Given the description of an element on the screen output the (x, y) to click on. 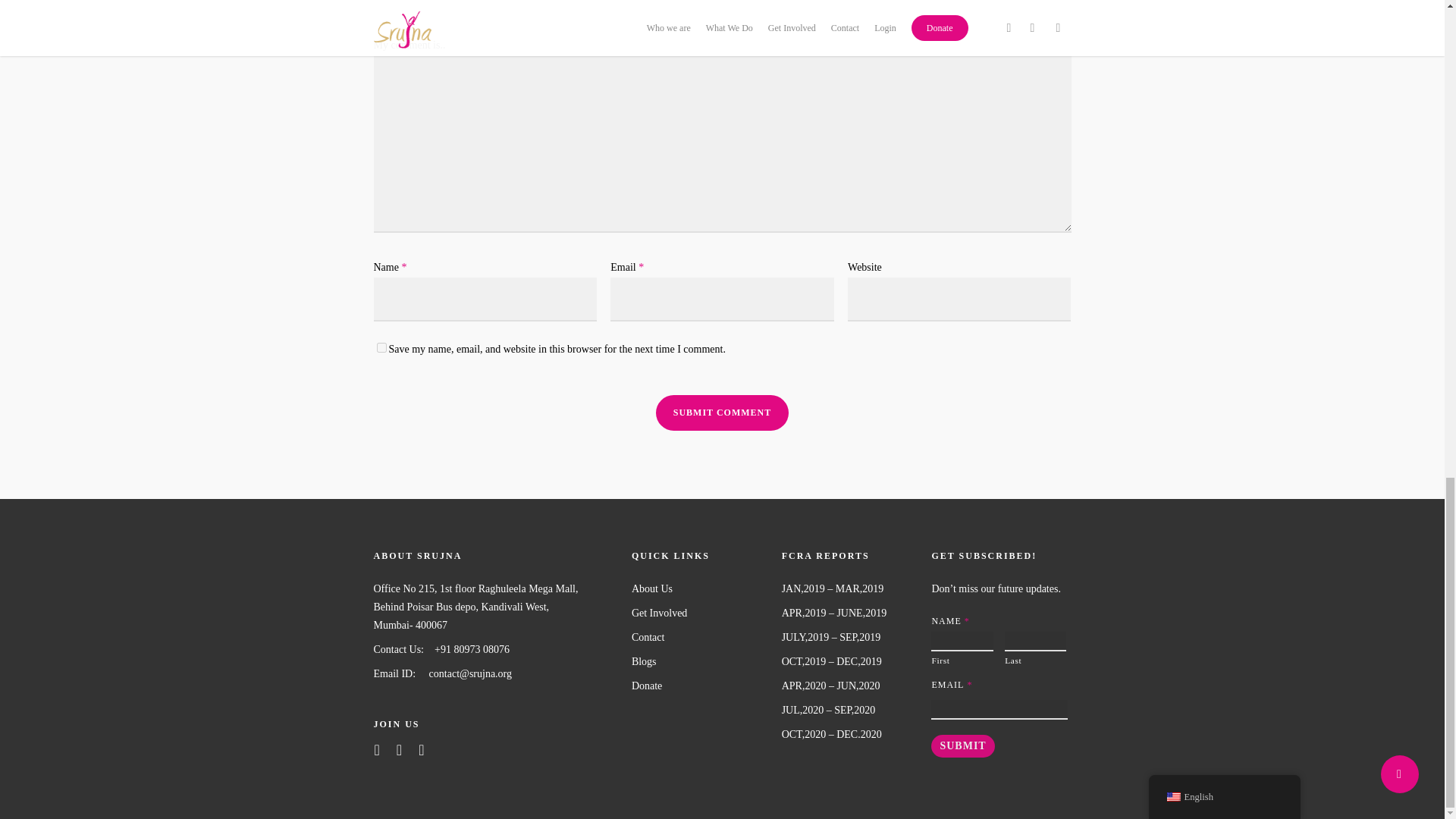
Blogs (699, 661)
Submit Comment (722, 412)
Submit (962, 745)
Donate (699, 686)
About Us (699, 588)
Contact (699, 637)
Submit Comment (722, 412)
Get Involved (699, 613)
yes (380, 347)
